Given the description of an element on the screen output the (x, y) to click on. 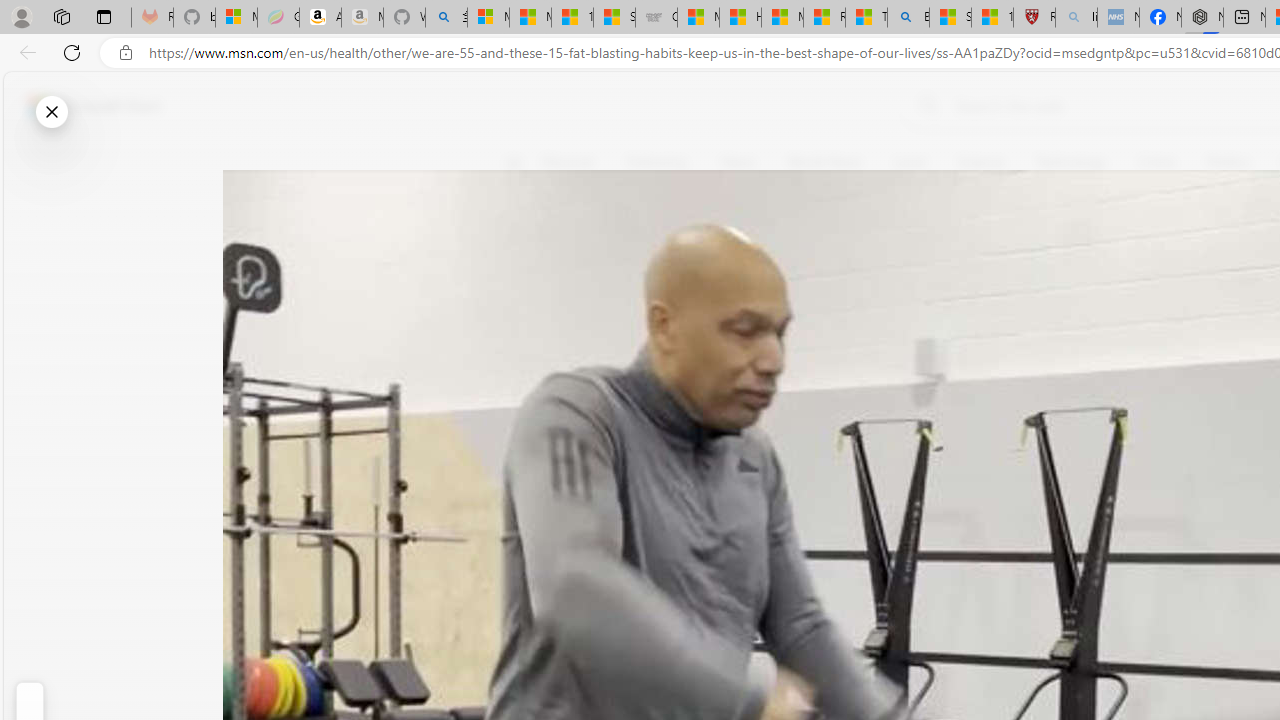
Combat Siege (656, 17)
